Given the description of an element on the screen output the (x, y) to click on. 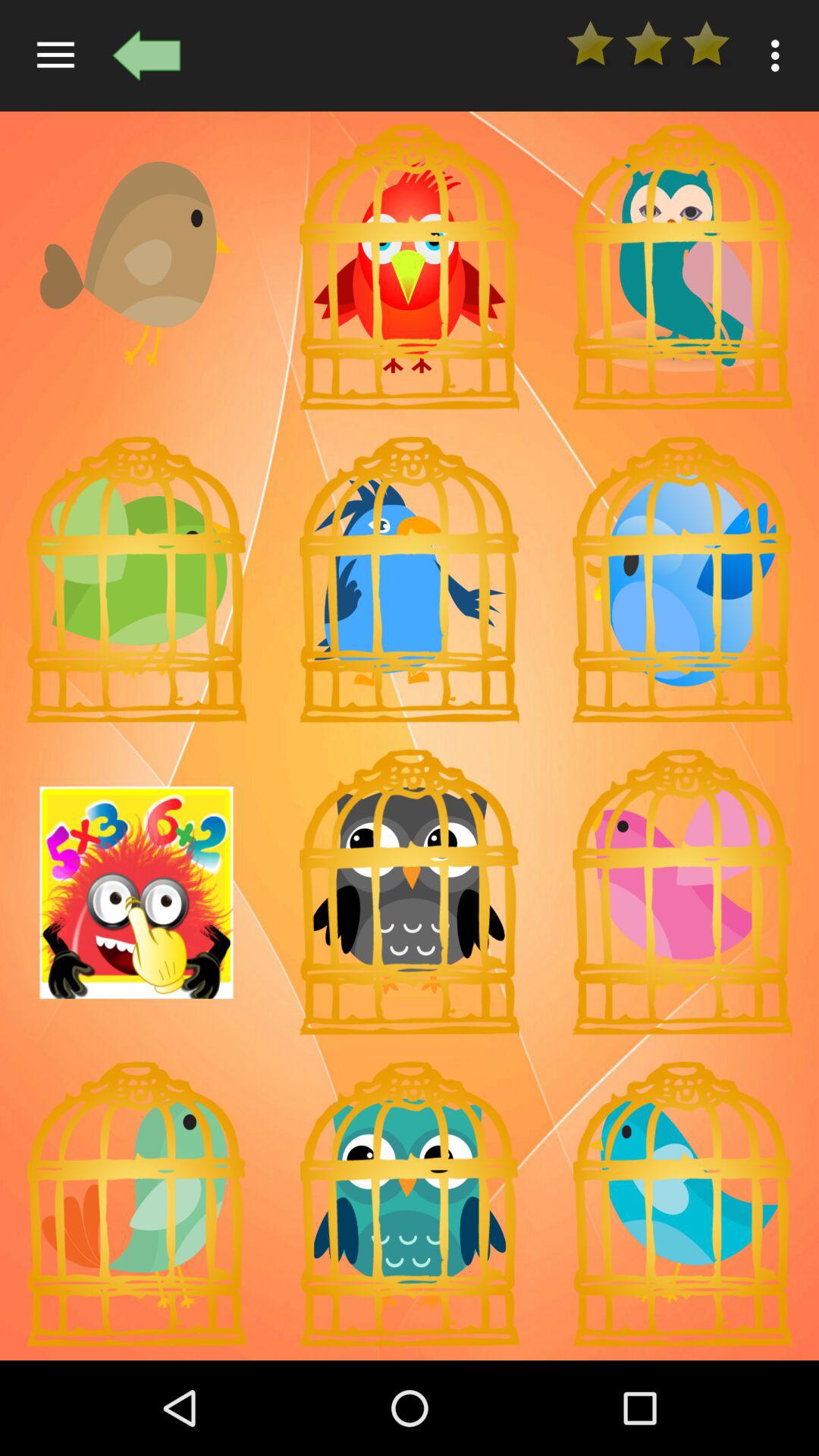
select sound (682, 892)
